Given the description of an element on the screen output the (x, y) to click on. 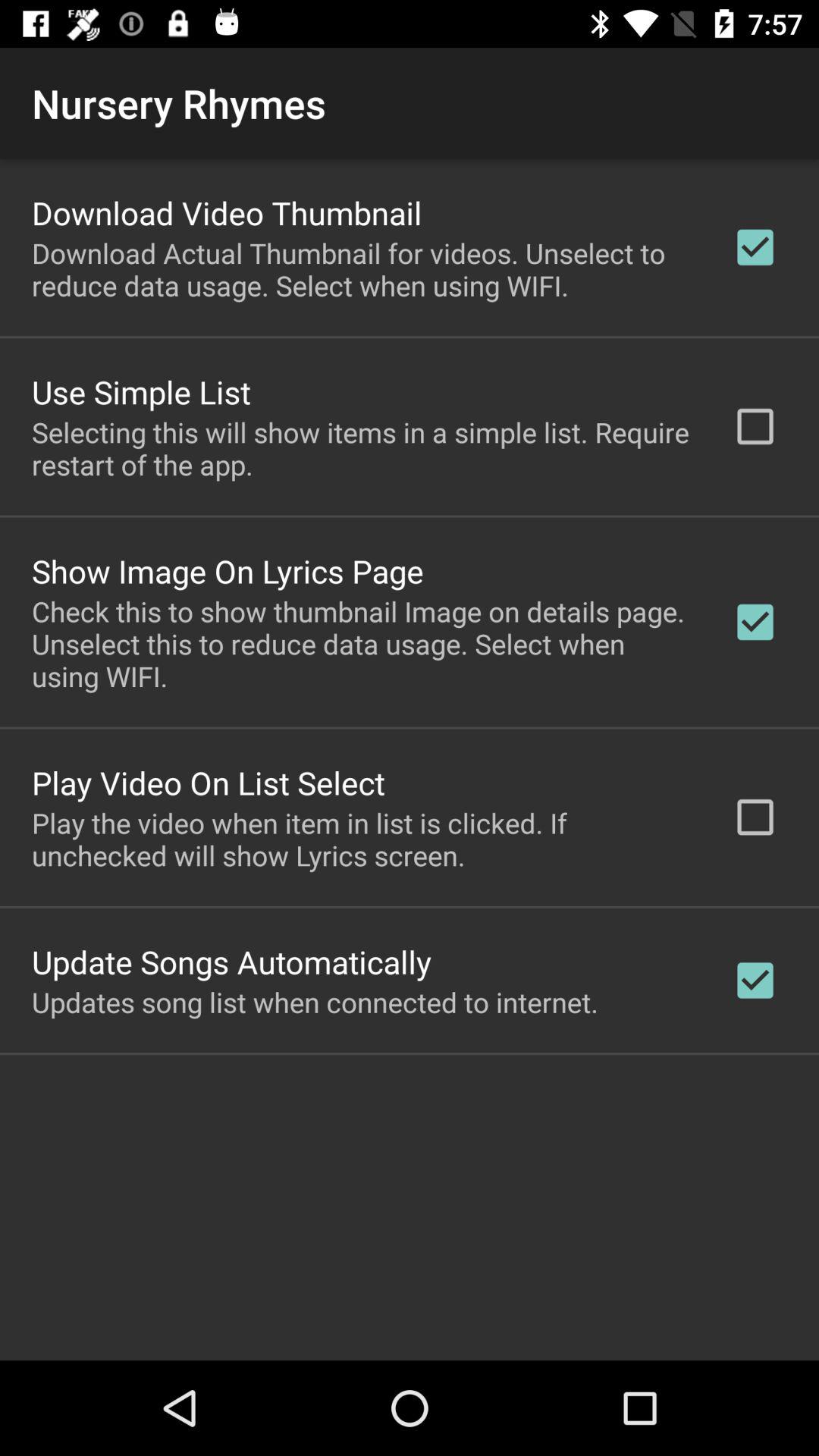
open the selecting this will icon (361, 448)
